Given the description of an element on the screen output the (x, y) to click on. 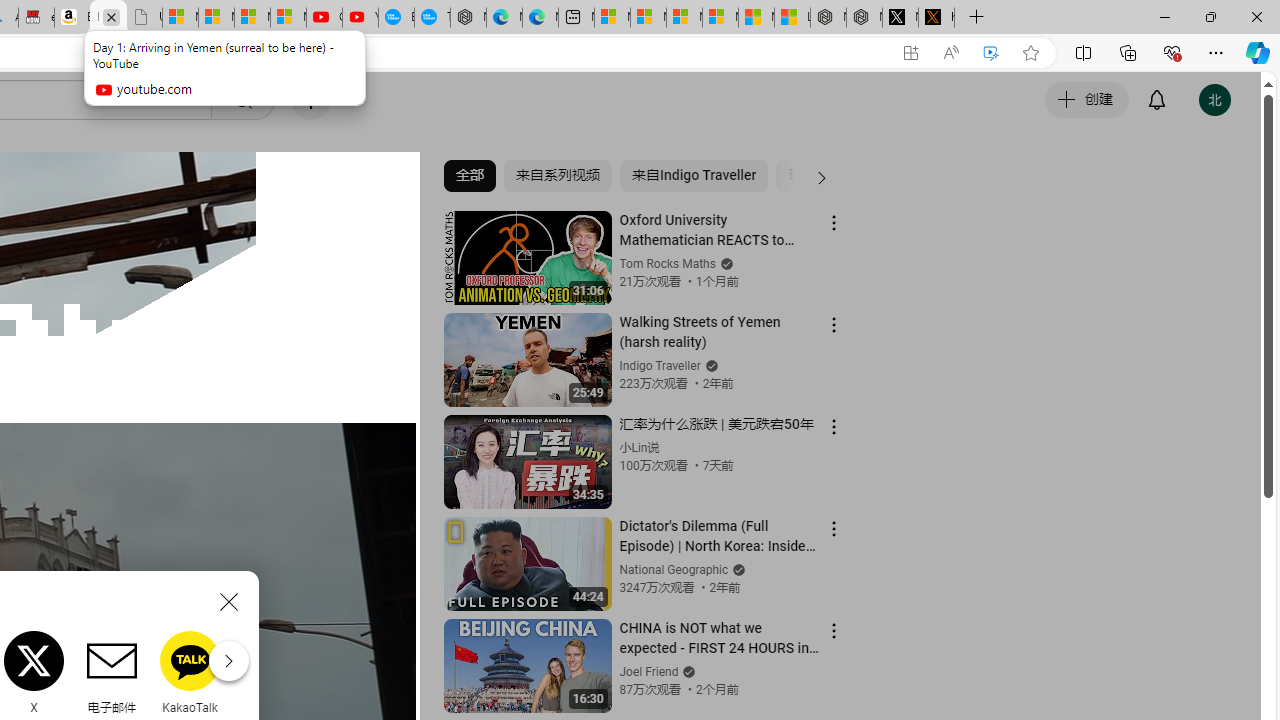
help.x.com | 524: A timeout occurred (936, 17)
The most popular Google 'how to' searches (432, 17)
